Given the description of an element on the screen output the (x, y) to click on. 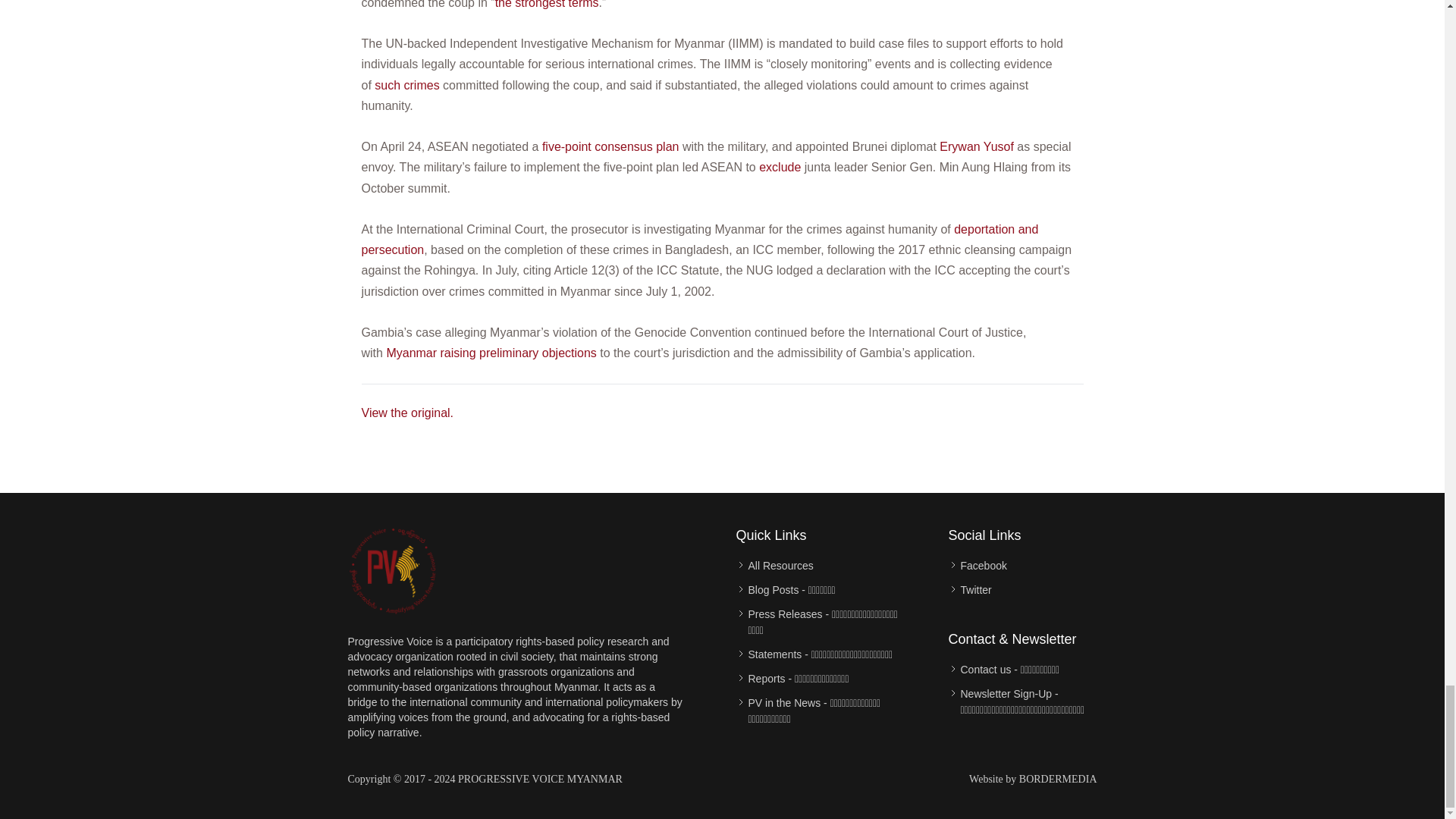
Progressive Voice Myanmar - Home page (392, 569)
